Given the description of an element on the screen output the (x, y) to click on. 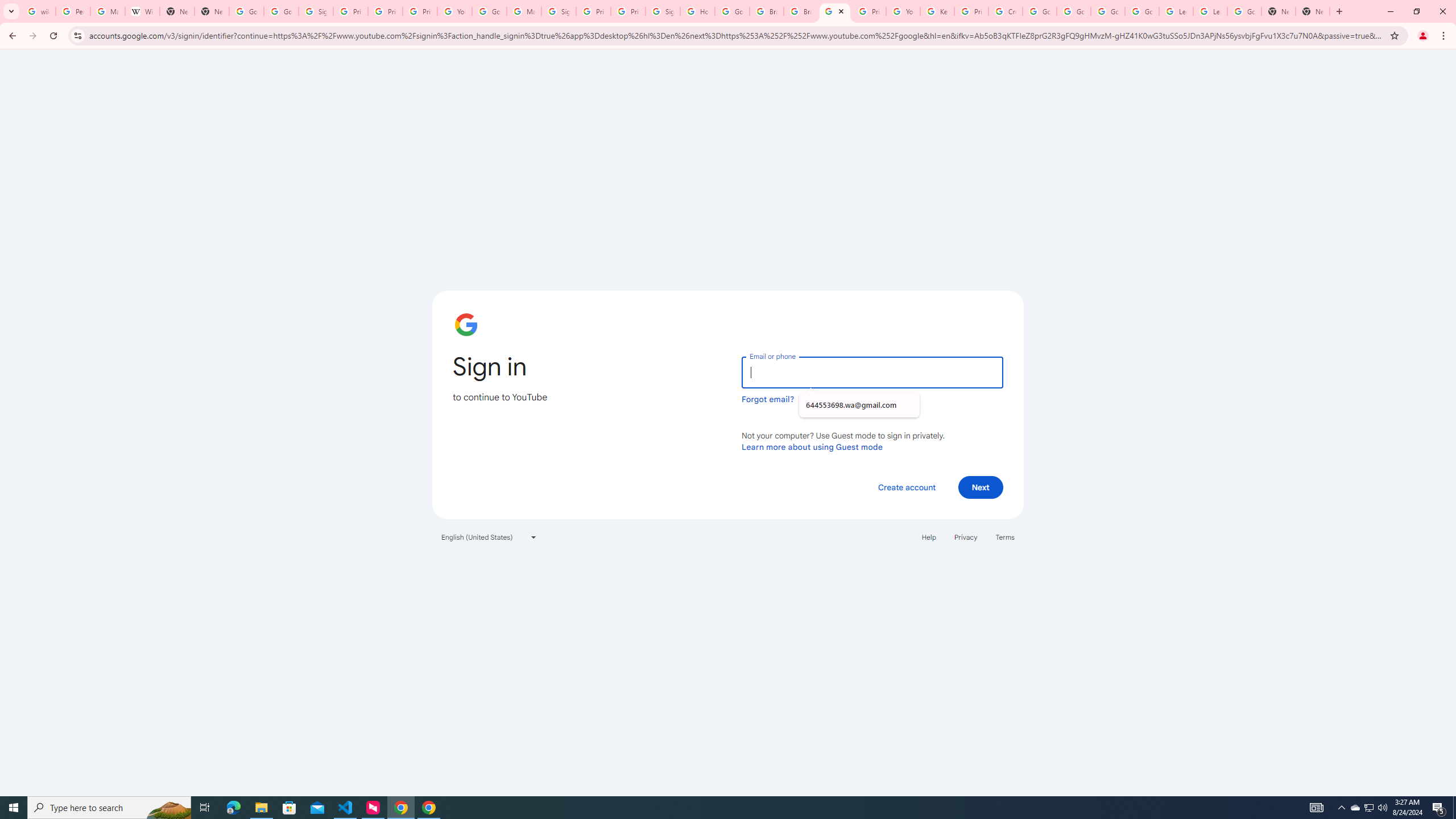
Brand Resource Center (766, 11)
